Given the description of an element on the screen output the (x, y) to click on. 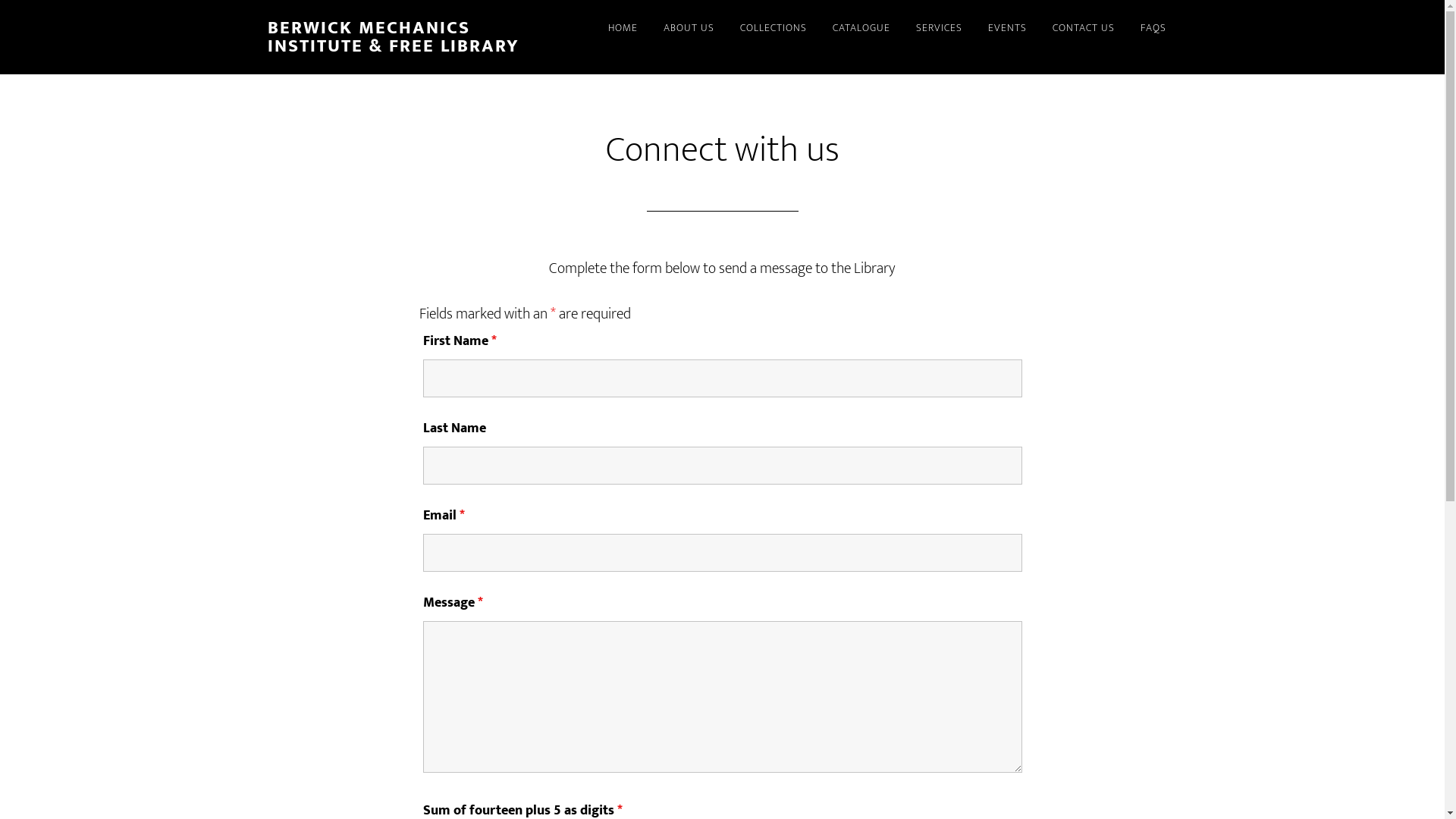
FAQS Element type: text (1152, 28)
BERWICK MECHANICS INSTITUTE & FREE LIBRARY Element type: text (392, 36)
COLLECTIONS Element type: text (772, 28)
CONTACT US Element type: text (1082, 28)
EVENTS Element type: text (1007, 28)
CATALOGUE Element type: text (860, 28)
ABOUT US Element type: text (688, 28)
Skip to main content Element type: text (0, 0)
HOME Element type: text (622, 28)
SERVICES Element type: text (937, 28)
